Given the description of an element on the screen output the (x, y) to click on. 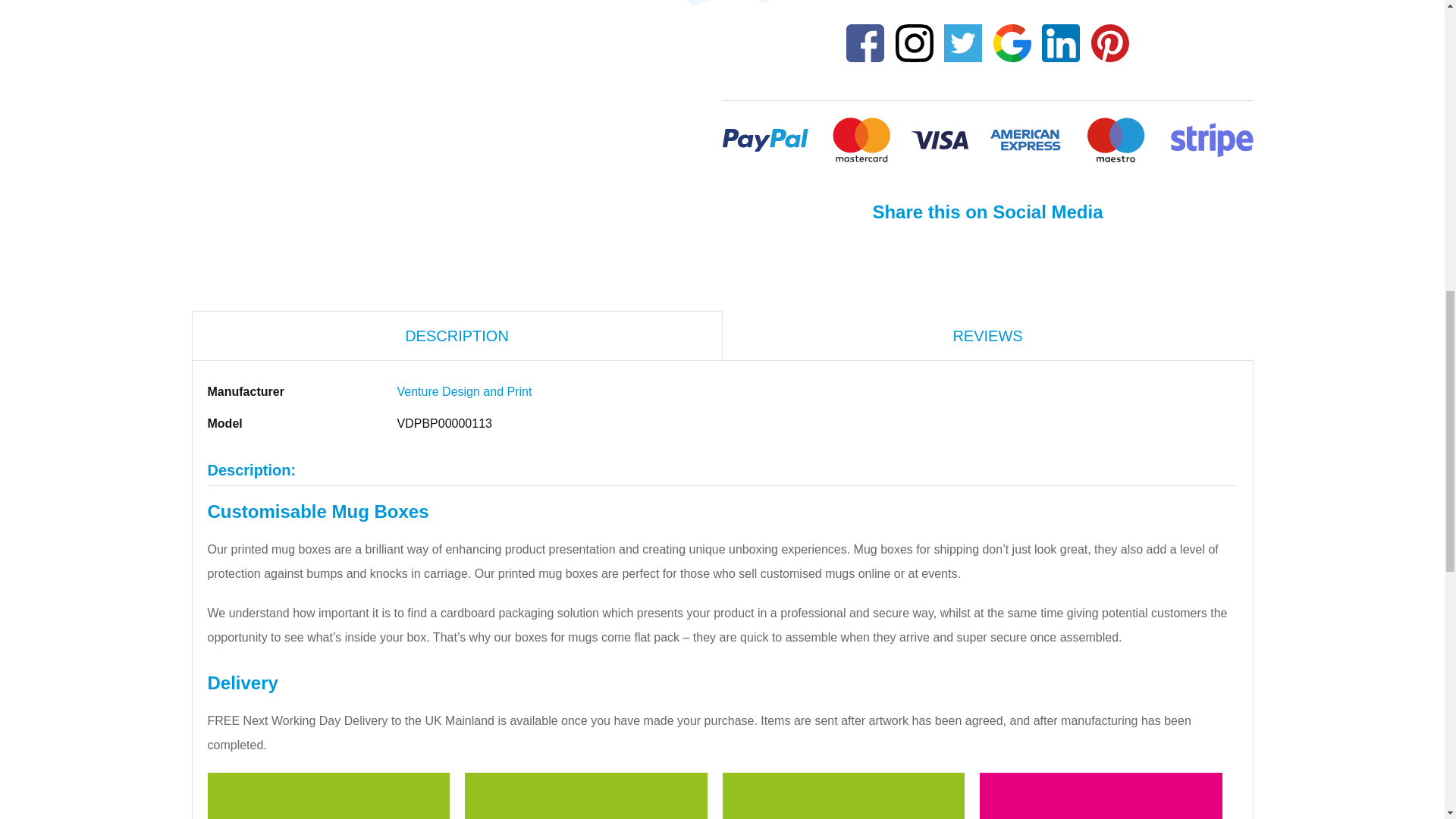
Venture Design and Print (464, 391)
Twitter (962, 42)
Payment Options (987, 139)
REVIEWS (987, 335)
Facebook (865, 42)
Venture Design and Print (464, 391)
LinkedIn (1060, 42)
Google (1012, 42)
Instagram (914, 42)
Pinterest (1109, 42)
DESCRIPTION (456, 336)
